Given the description of an element on the screen output the (x, y) to click on. 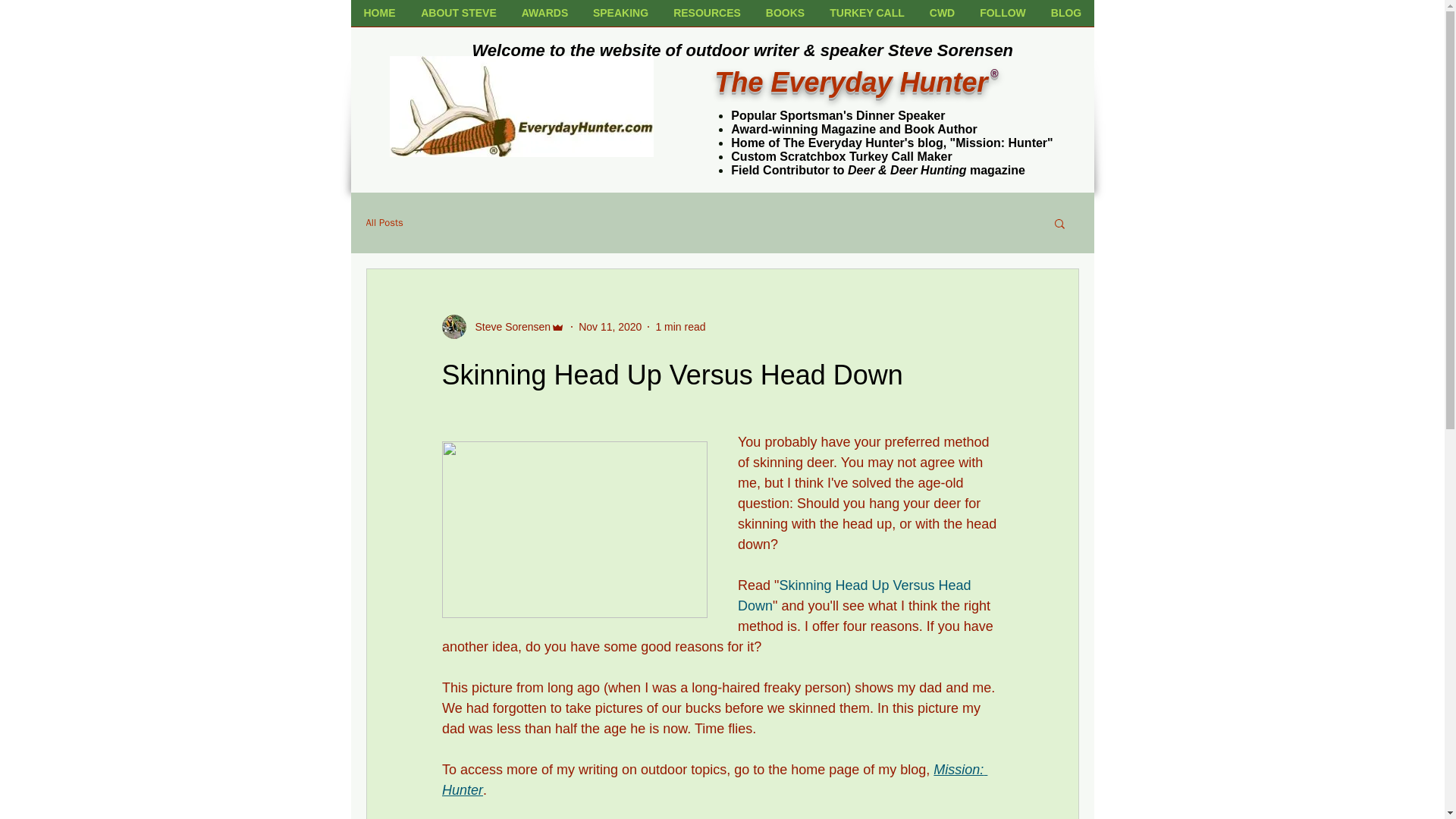
SPEAKING (620, 18)
AWARDS (544, 18)
Steve Sorensen  (507, 326)
1 min read (679, 326)
BOOKS (785, 18)
Nov 11, 2020 (610, 326)
ABOUT STEVE (457, 18)
Skinning Head Up Versus Head Down (855, 595)
All Posts (384, 223)
RESOURCES (707, 18)
TURKEY CALL (866, 18)
HOME (378, 18)
EHLogoColorWide-Small.jpg (521, 106)
Mission: Hunter (714, 779)
CWD (942, 18)
